Given the description of an element on the screen output the (x, y) to click on. 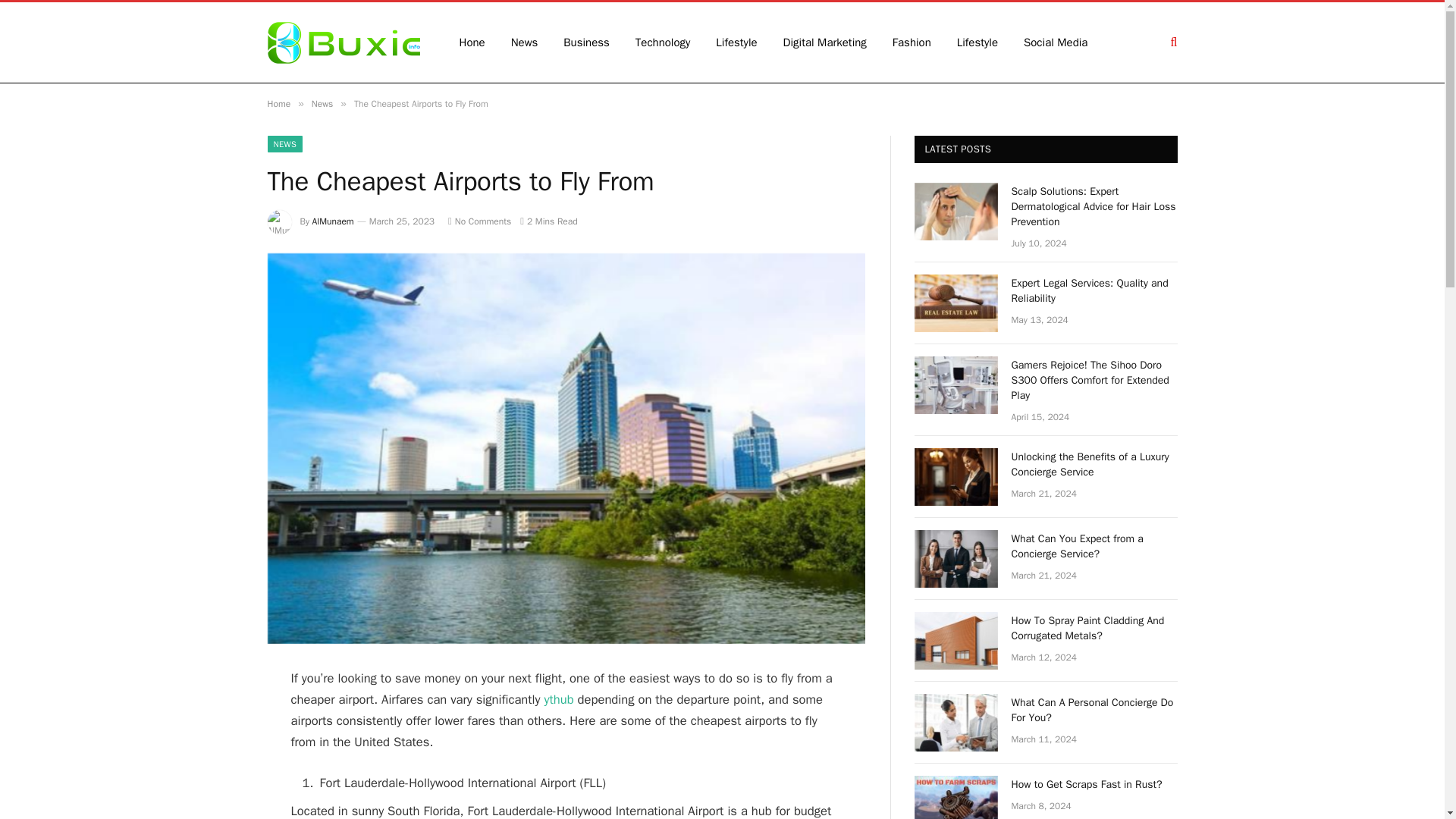
NEWS (284, 143)
Digital Marketing (824, 42)
No Comments (479, 221)
ythub (558, 699)
Home (277, 103)
AlMunaem (333, 221)
Business (586, 42)
News (322, 103)
Social Media (1055, 42)
buxic.info (342, 41)
Technology (663, 42)
Posts by AlMunaem (333, 221)
